Given the description of an element on the screen output the (x, y) to click on. 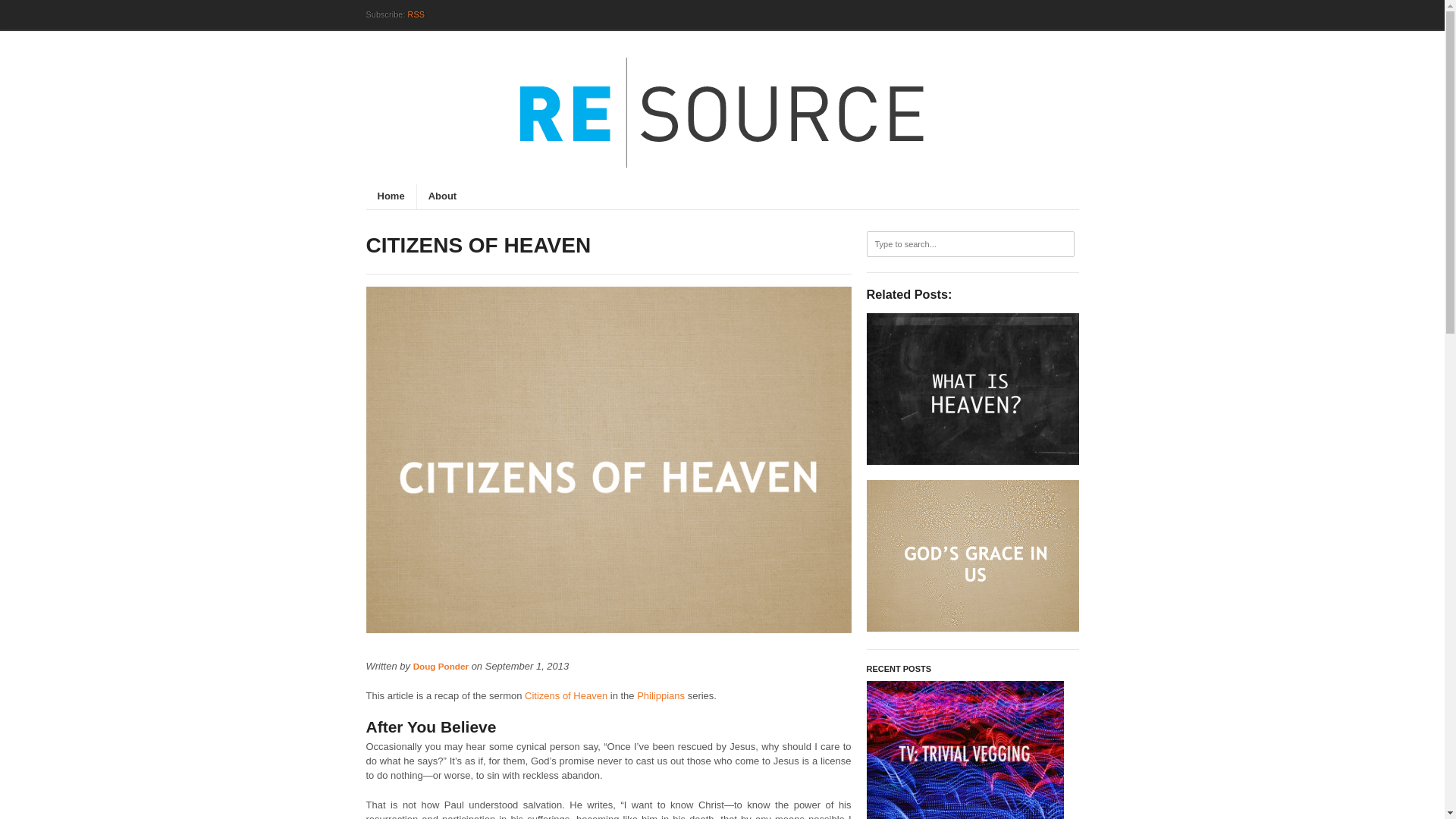
About (436, 196)
Home (389, 196)
RSS (416, 13)
Search (22, 16)
Philippians (660, 695)
Posts by Doug Ponder (440, 665)
WHAT IS HEAVEN? (972, 388)
Doug Ponder (440, 665)
Citizens of Heaven (565, 695)
Remnant Resource (721, 115)
TV: TRIVIAL VEGGING (964, 749)
